Given the description of an element on the screen output the (x, y) to click on. 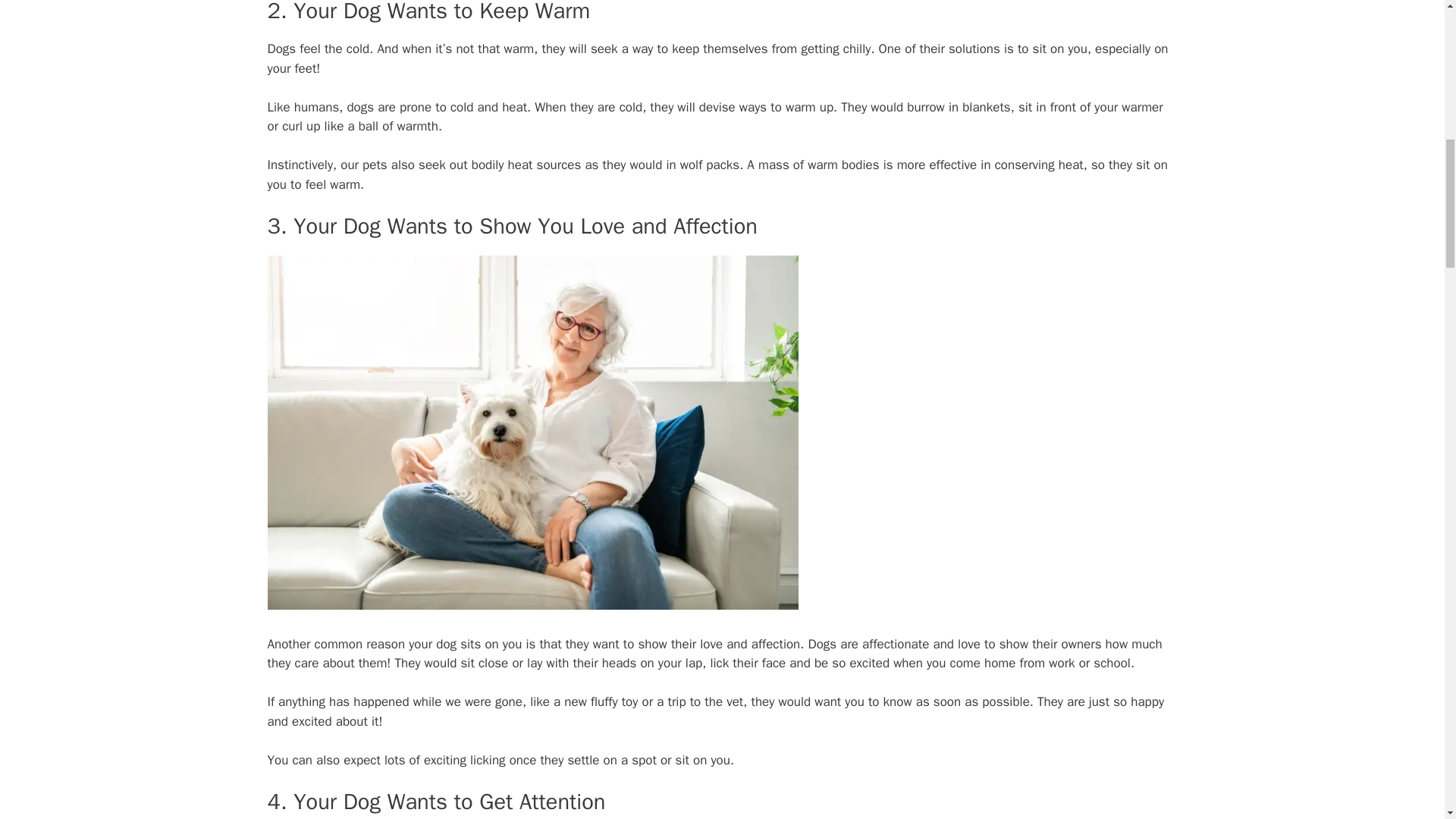
Scroll back to top (1406, 720)
